Given the description of an element on the screen output the (x, y) to click on. 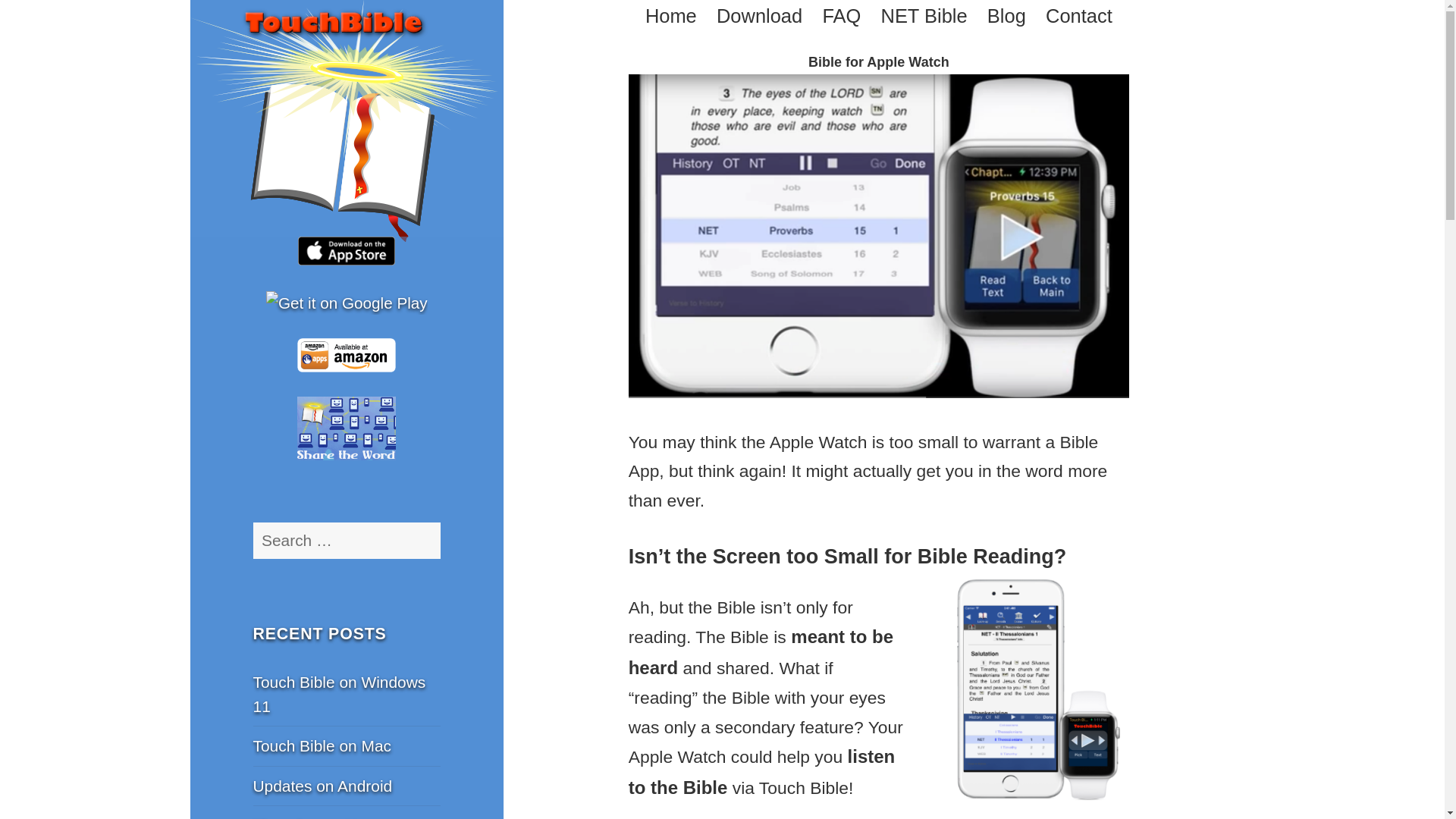
Thoughts on Net Neutrality (312, 817)
NET Bible (924, 15)
Updates on Android (323, 784)
Blog (1006, 15)
Contact (1078, 15)
Touch Bible on Mac (322, 745)
Home (671, 15)
FAQ (841, 15)
Download (759, 15)
Touch Bible on Windows 11 (339, 693)
